Given the description of an element on the screen output the (x, y) to click on. 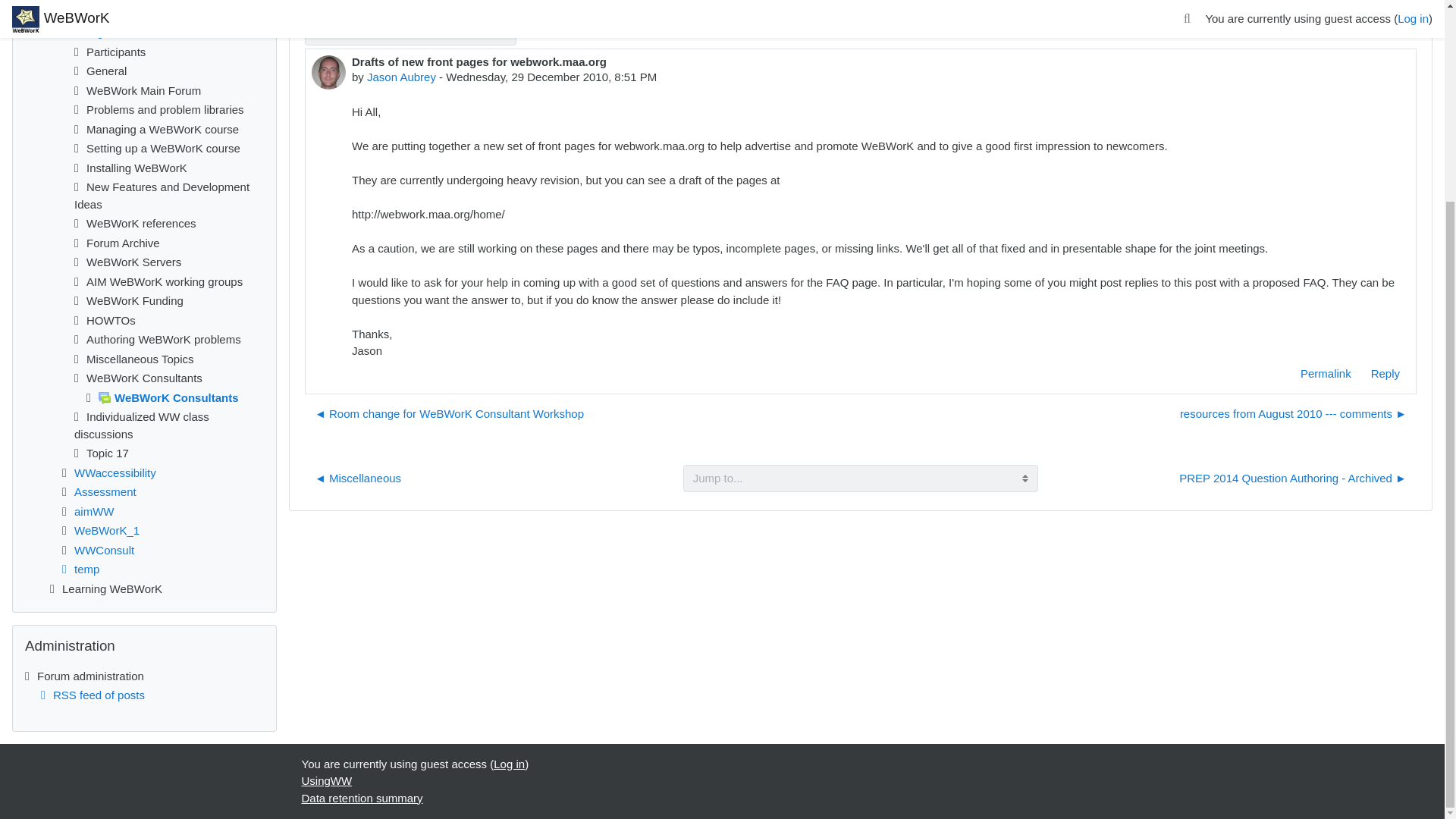
Assessment (105, 491)
Reply (1385, 373)
Picture of Jason Aubrey (328, 71)
Reply (1385, 373)
aimWW (94, 511)
WWaccessibility (114, 472)
PREP 2014 Question Authoring - Archived (1292, 478)
Permanent link to this post (1325, 373)
temp (78, 568)
